Given the description of an element on the screen output the (x, y) to click on. 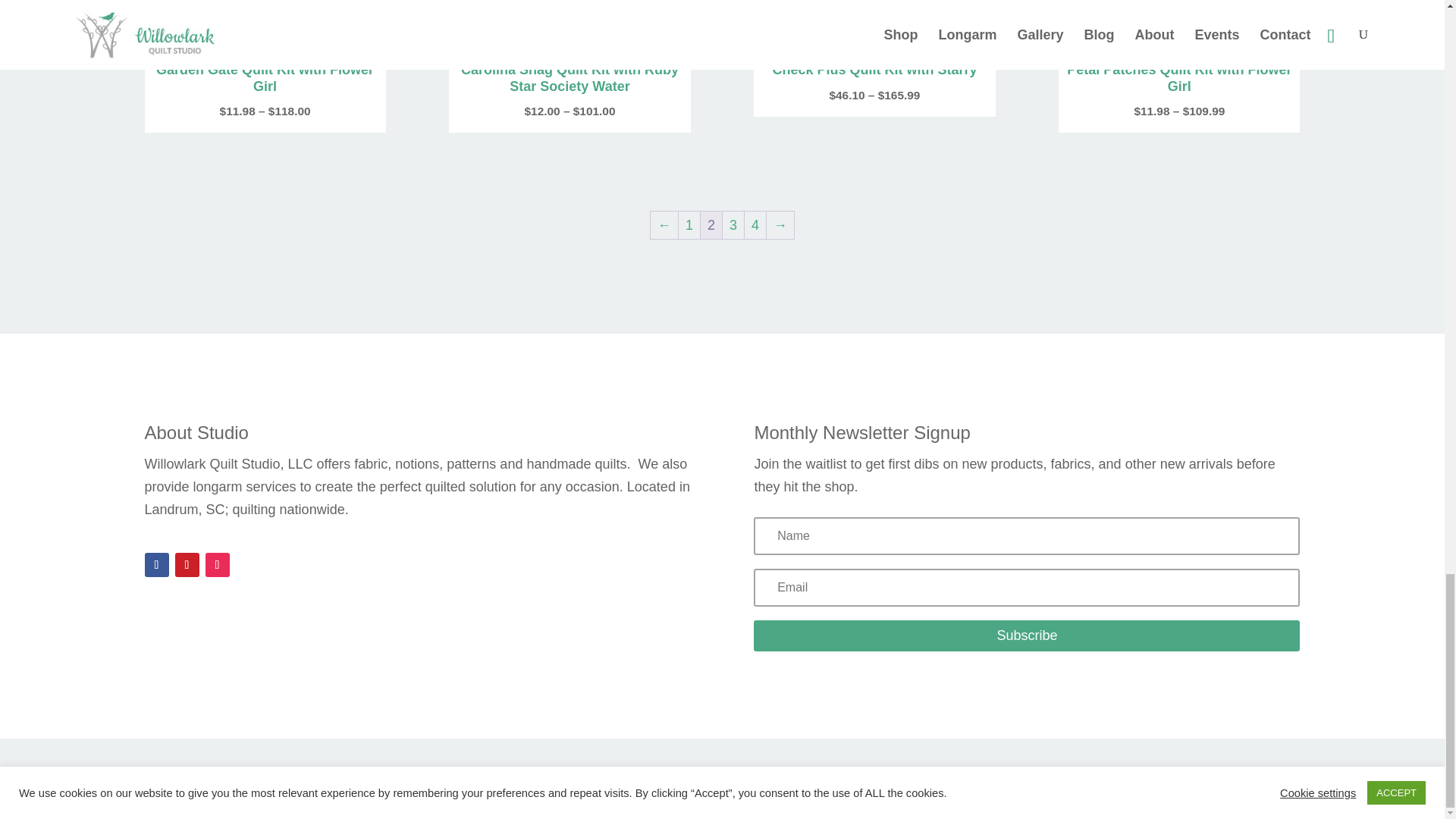
Follow on Pinterest (186, 564)
Follow on Facebook (156, 564)
Follow on Instagram (216, 564)
